Given the description of an element on the screen output the (x, y) to click on. 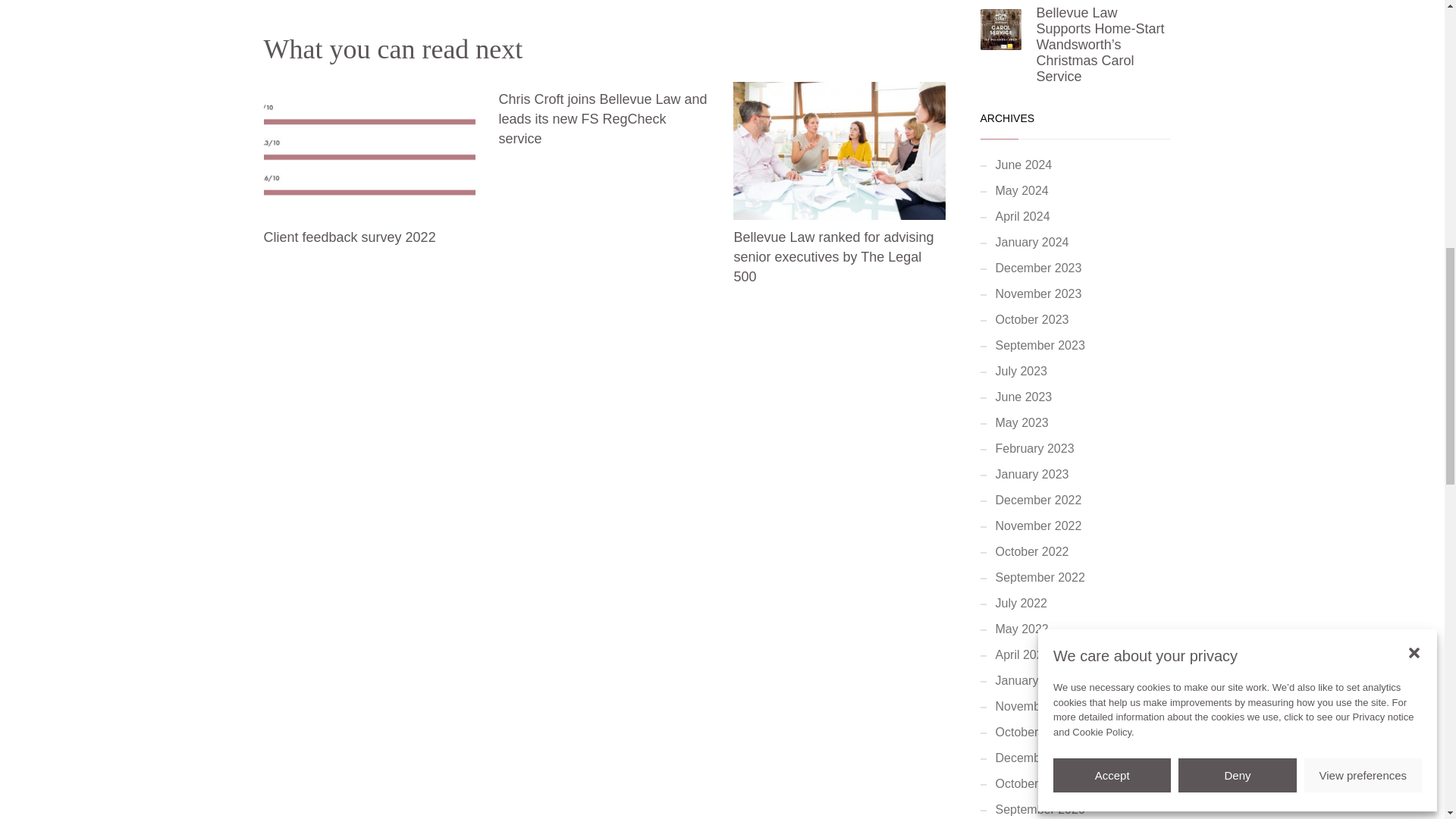
client-survey-2022 (369, 150)
